Given the description of an element on the screen output the (x, y) to click on. 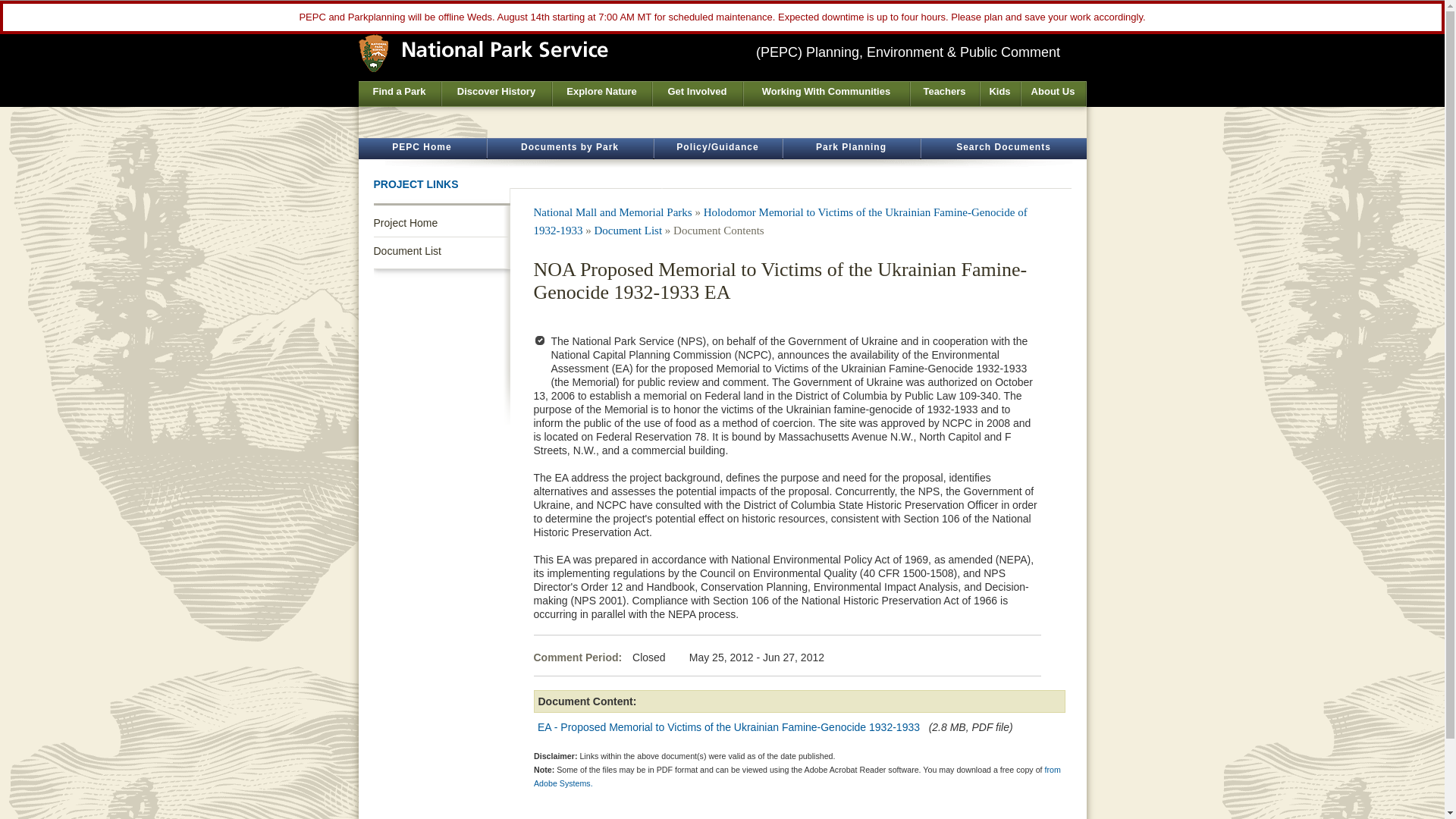
Search Documents (1003, 148)
Teachers (944, 93)
Project Home (440, 223)
Park Planning (850, 148)
Documents by Park (569, 148)
Kids (999, 93)
Document List (628, 230)
Find projects by search (850, 148)
PEPC Home (421, 148)
Policy and guidance links (716, 148)
